Given the description of an element on the screen output the (x, y) to click on. 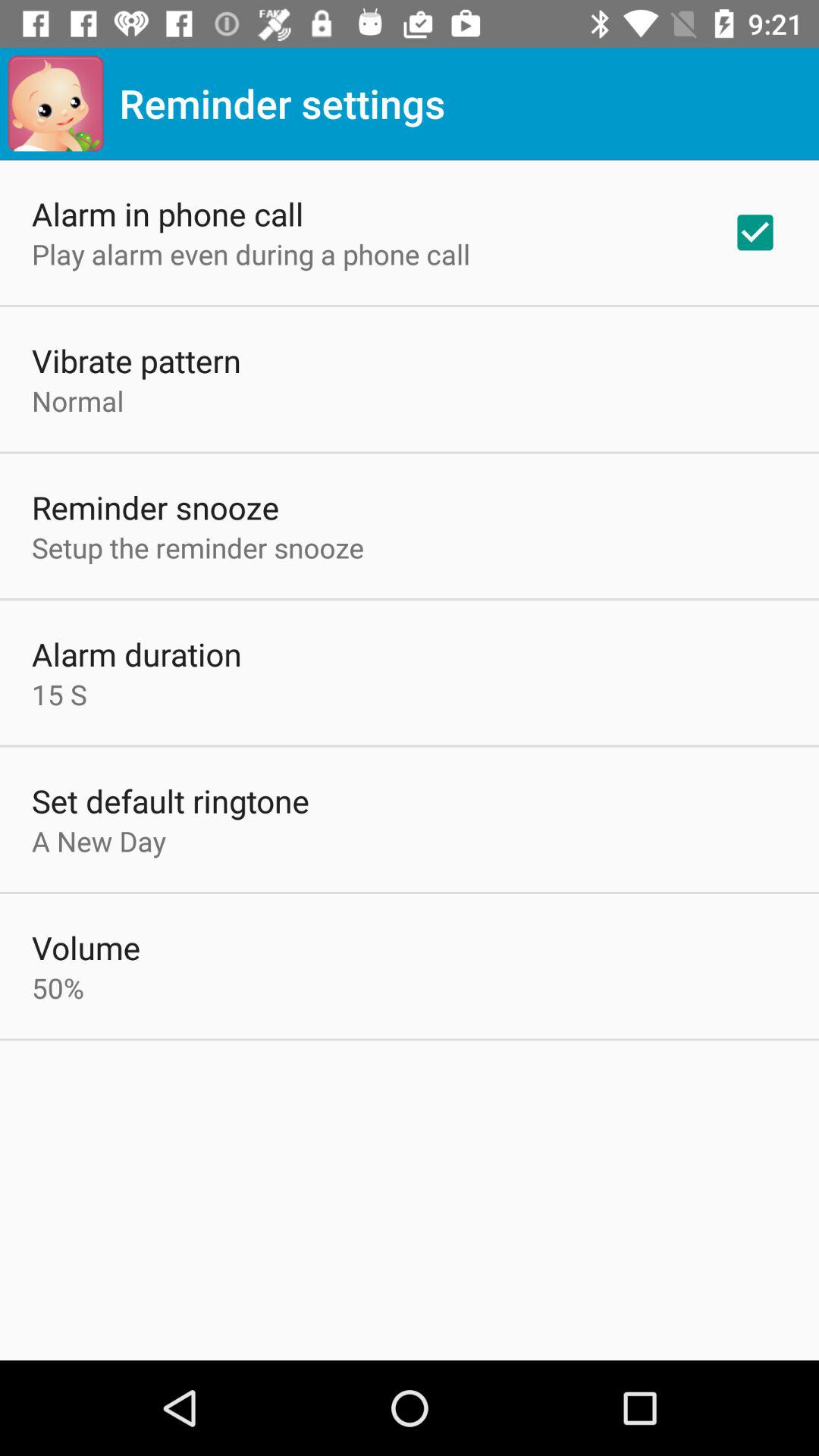
choose 15 s (59, 694)
